Given the description of an element on the screen output the (x, y) to click on. 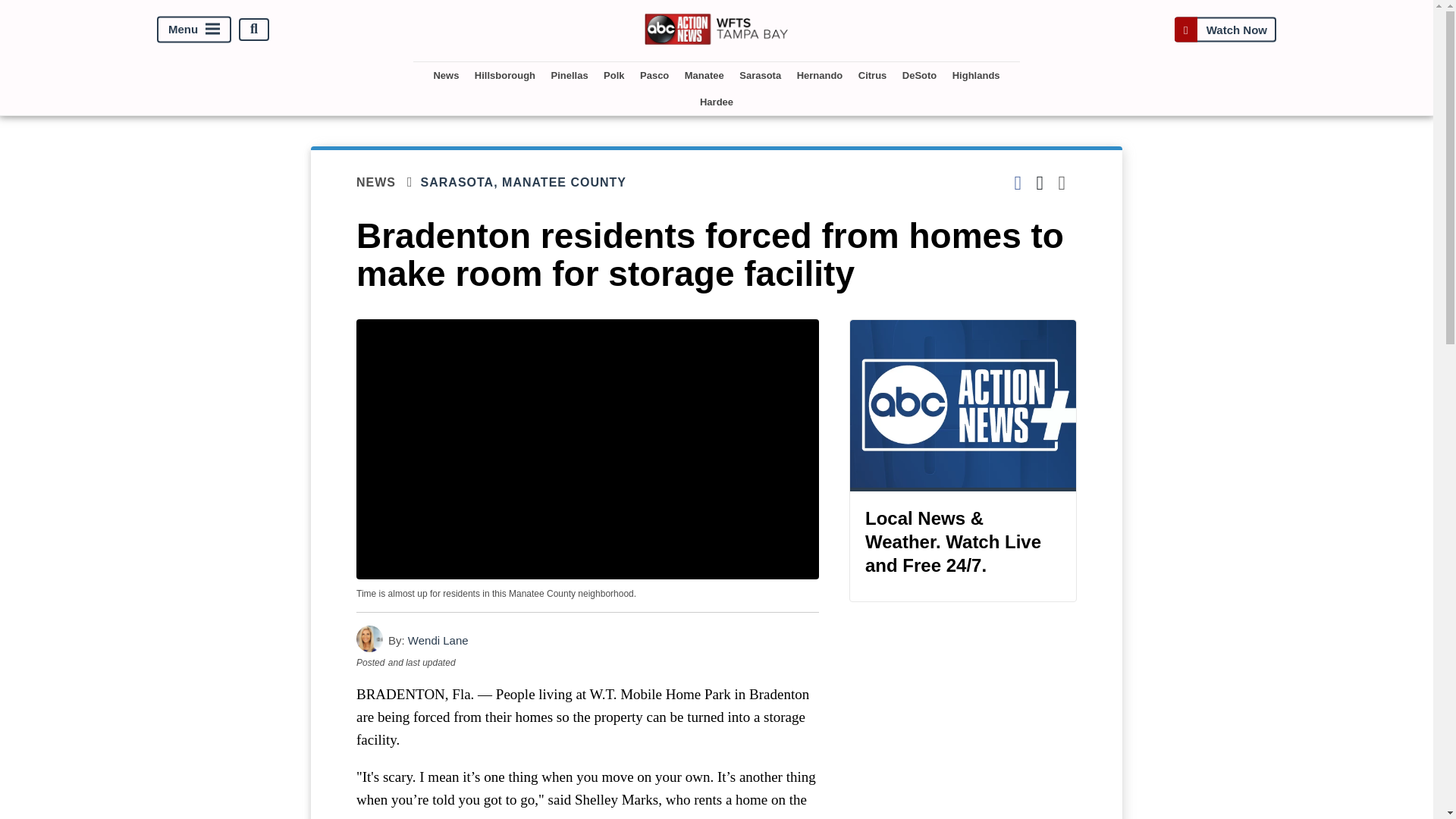
Menu (194, 28)
Watch Now (1224, 29)
